Given the description of an element on the screen output the (x, y) to click on. 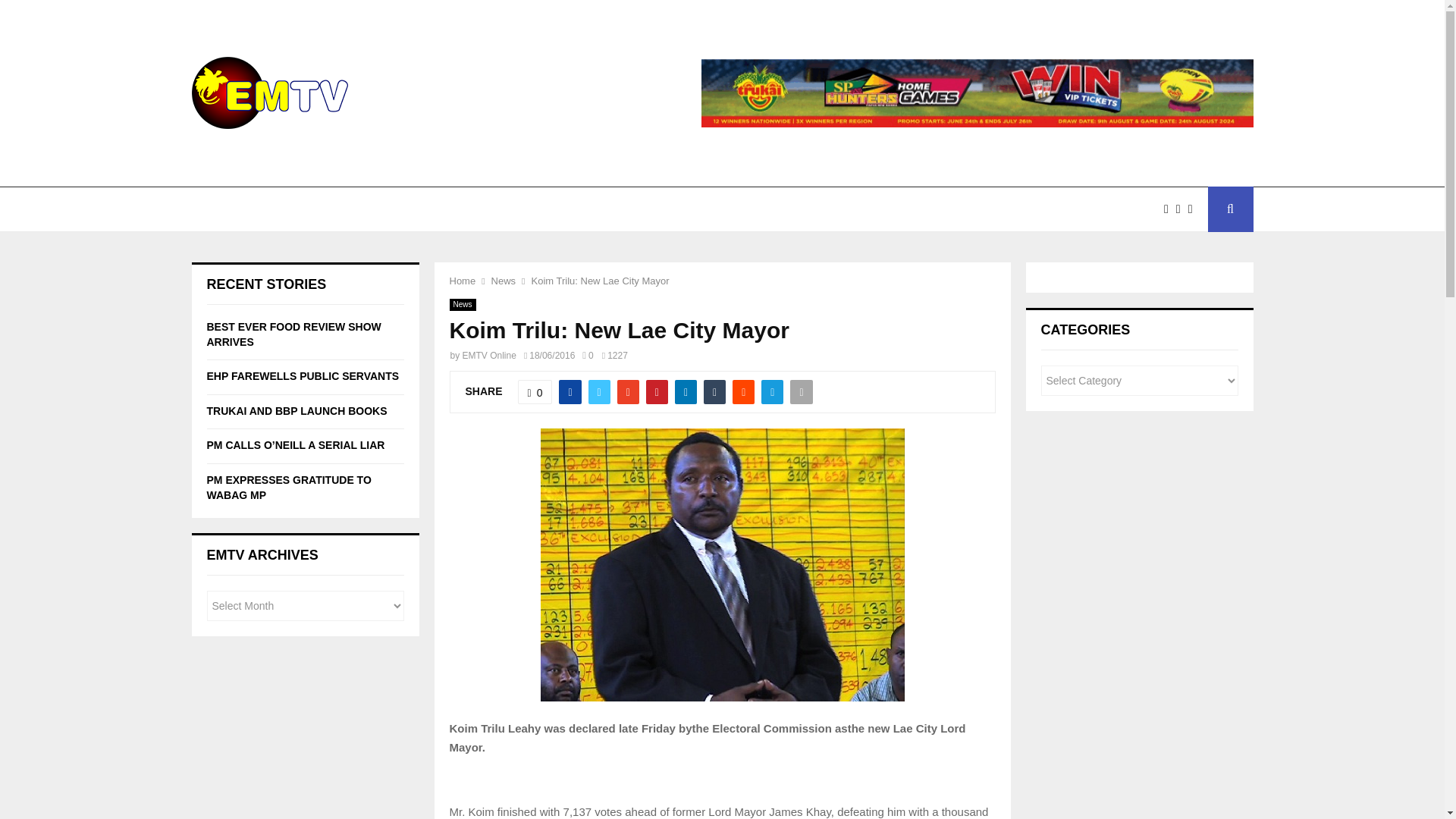
WATCH NOW (306, 208)
LIFE (674, 208)
SPORT (606, 208)
TV SCHEDULE (405, 208)
NEWS (224, 208)
Like (535, 392)
PROGRAMMES (514, 208)
